Given the description of an element on the screen output the (x, y) to click on. 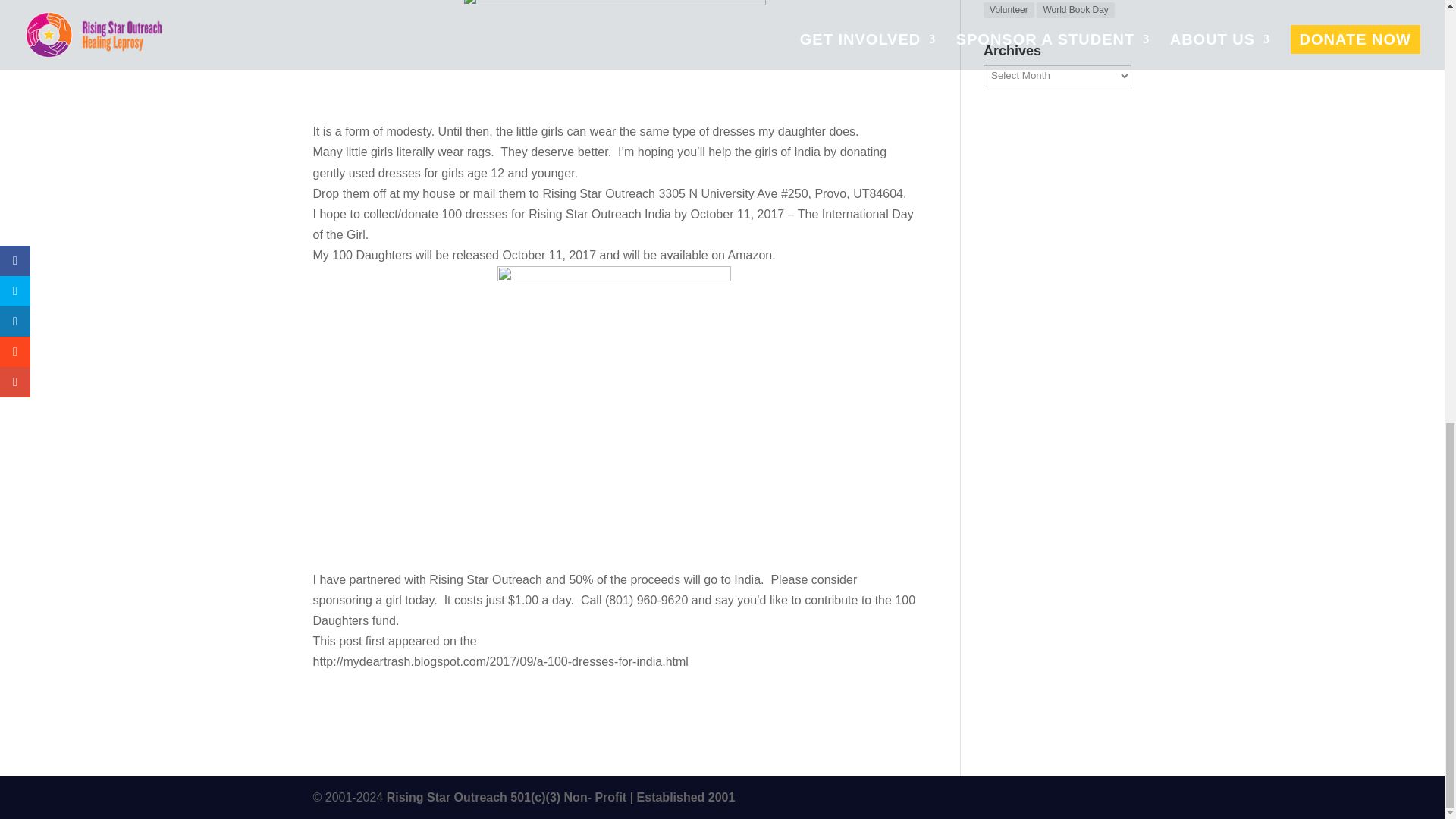
RISING STAR OUTREACH (561, 797)
